Given the description of an element on the screen output the (x, y) to click on. 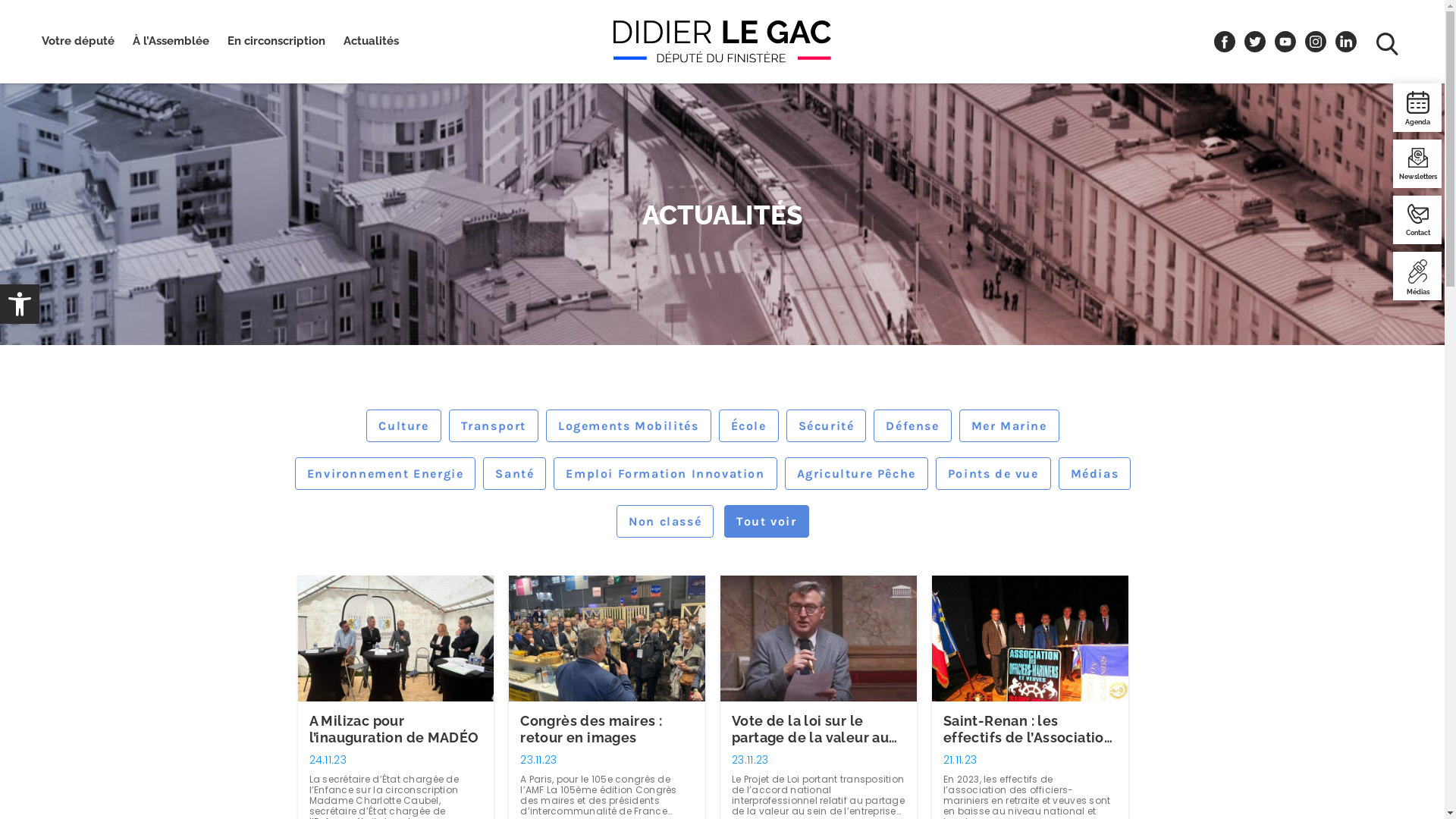
Agenda Element type: text (1417, 107)
Culture Element type: text (403, 425)
Points de vue Element type: text (993, 473)
Environnement Energie Element type: text (385, 473)
Tout voir Element type: text (766, 521)
En circonscription Element type: text (275, 48)
Contact Element type: text (1417, 219)
Transport Element type: text (493, 425)
Mer Marine Element type: text (1009, 425)
Emploi Formation Innovation Element type: text (664, 473)
Newsletters Element type: text (1417, 163)
